Given the description of an element on the screen output the (x, y) to click on. 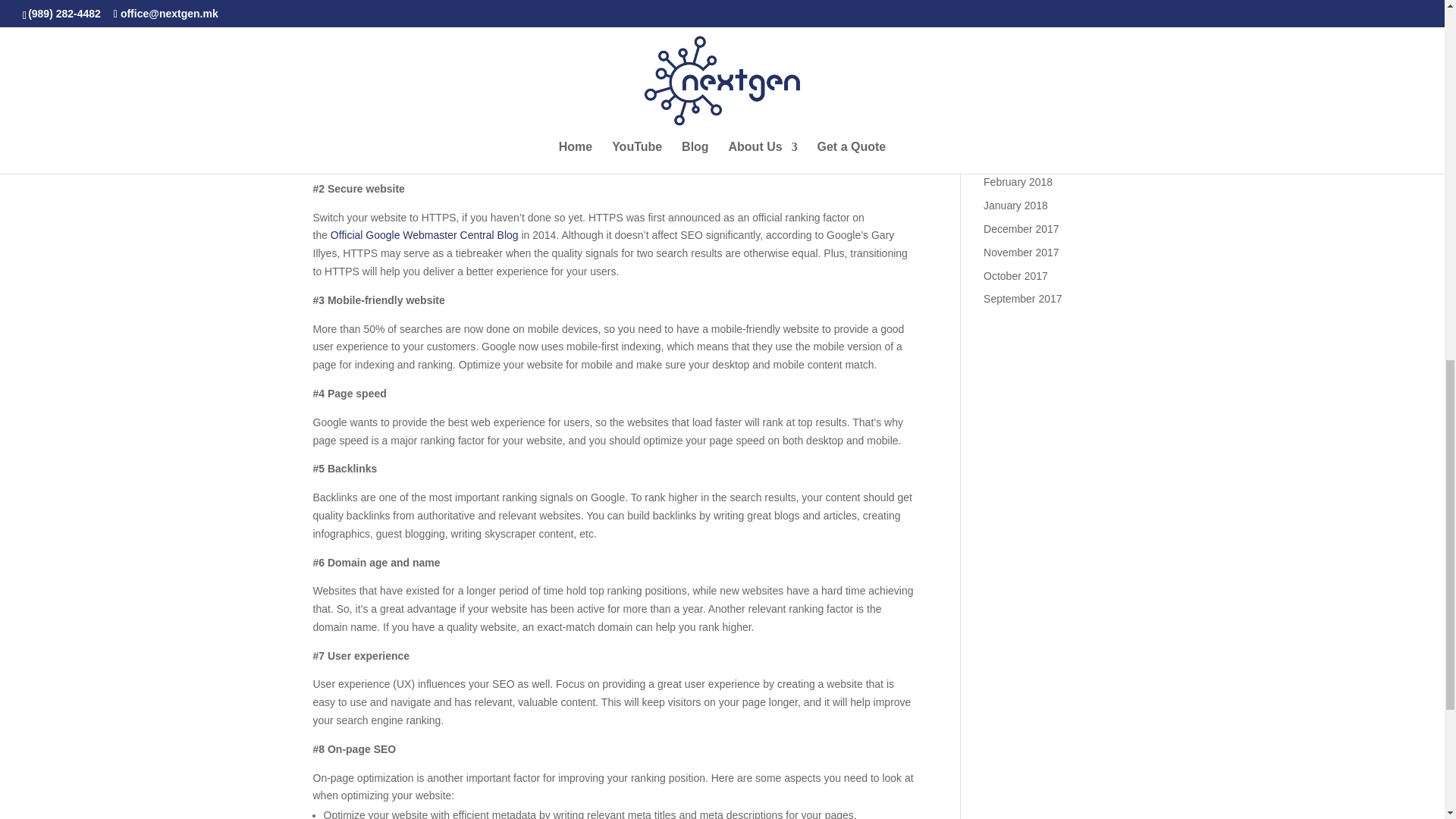
May 2018 (1006, 111)
August 2018 (1013, 42)
July 2018 (1006, 64)
June 2018 (1008, 88)
October 2018 (1016, 0)
April 2018 (1007, 135)
September 2018 (1023, 19)
Official Google Webmaster Central Blog (424, 234)
